Given the description of an element on the screen output the (x, y) to click on. 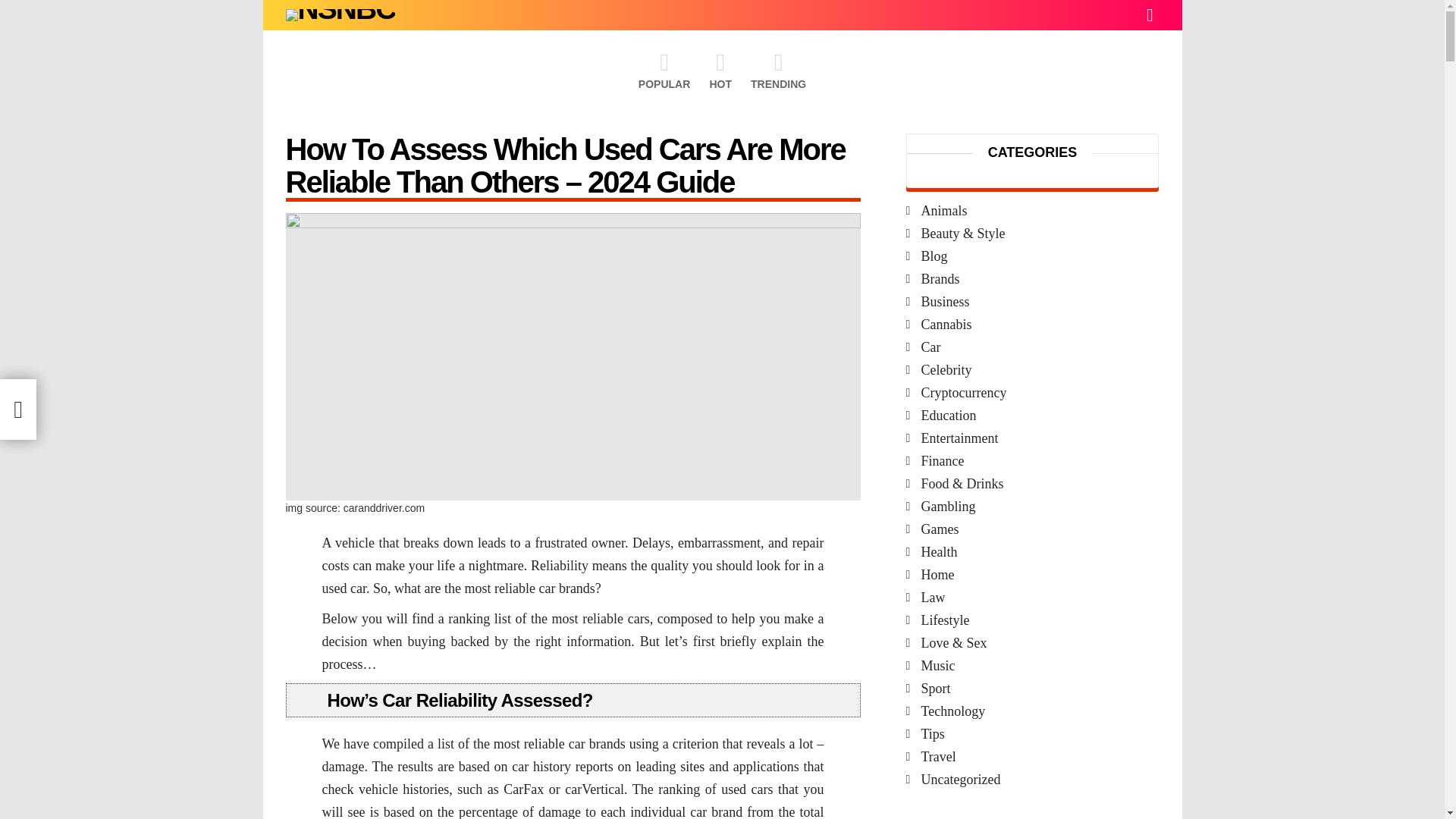
HOT (719, 69)
POPULAR (663, 69)
TRENDING (777, 69)
